Given the description of an element on the screen output the (x, y) to click on. 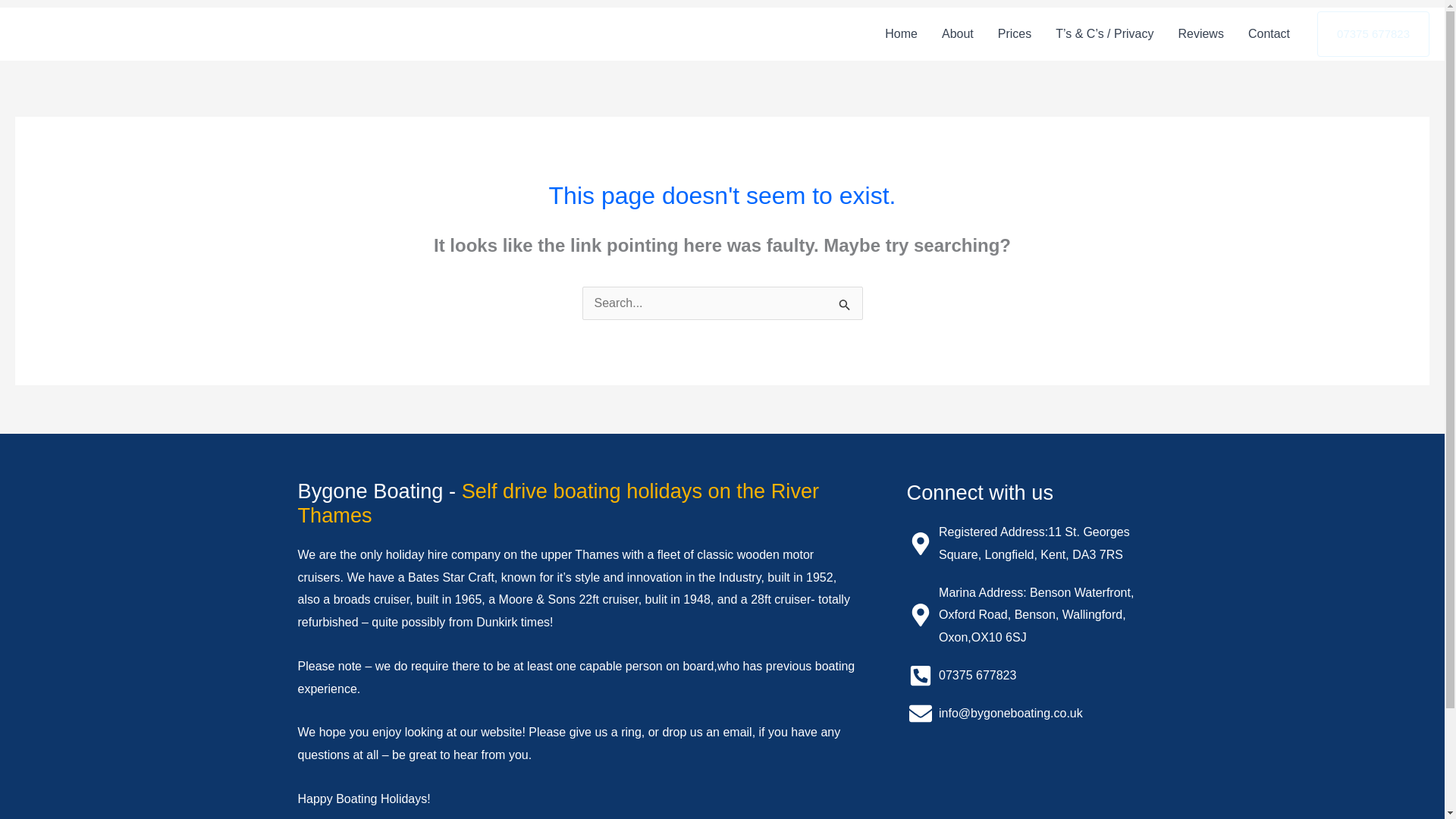
07375 677823 (1027, 675)
Contact (1268, 33)
Home (901, 33)
Reviews (1200, 33)
About (957, 33)
07375 677823 (1373, 33)
Prices (1014, 33)
